Given the description of an element on the screen output the (x, y) to click on. 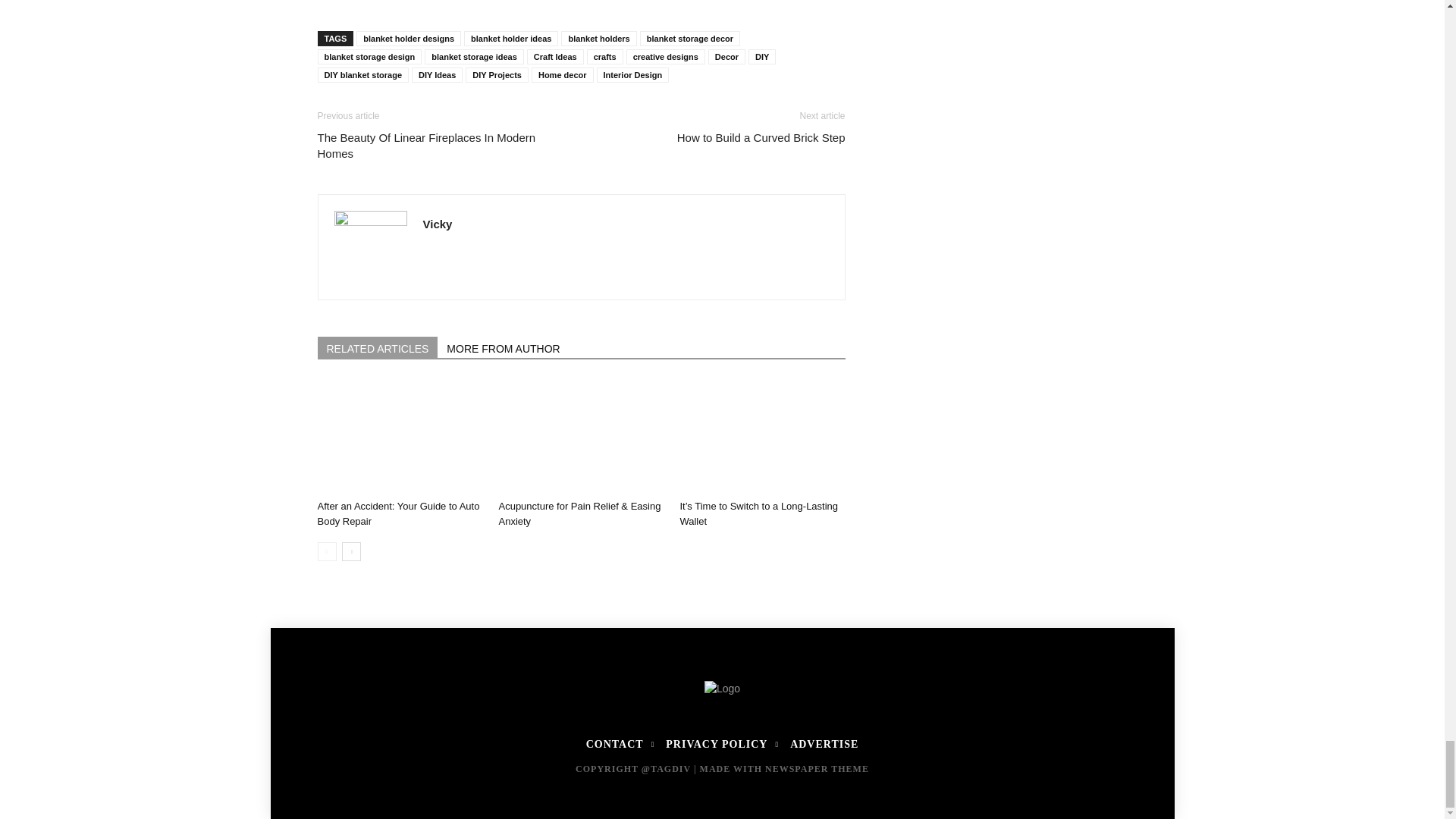
After an Accident: Your Guide to Auto Body Repair (398, 513)
After an Accident: Your Guide to Auto Body Repair (399, 436)
